Given the description of an element on the screen output the (x, y) to click on. 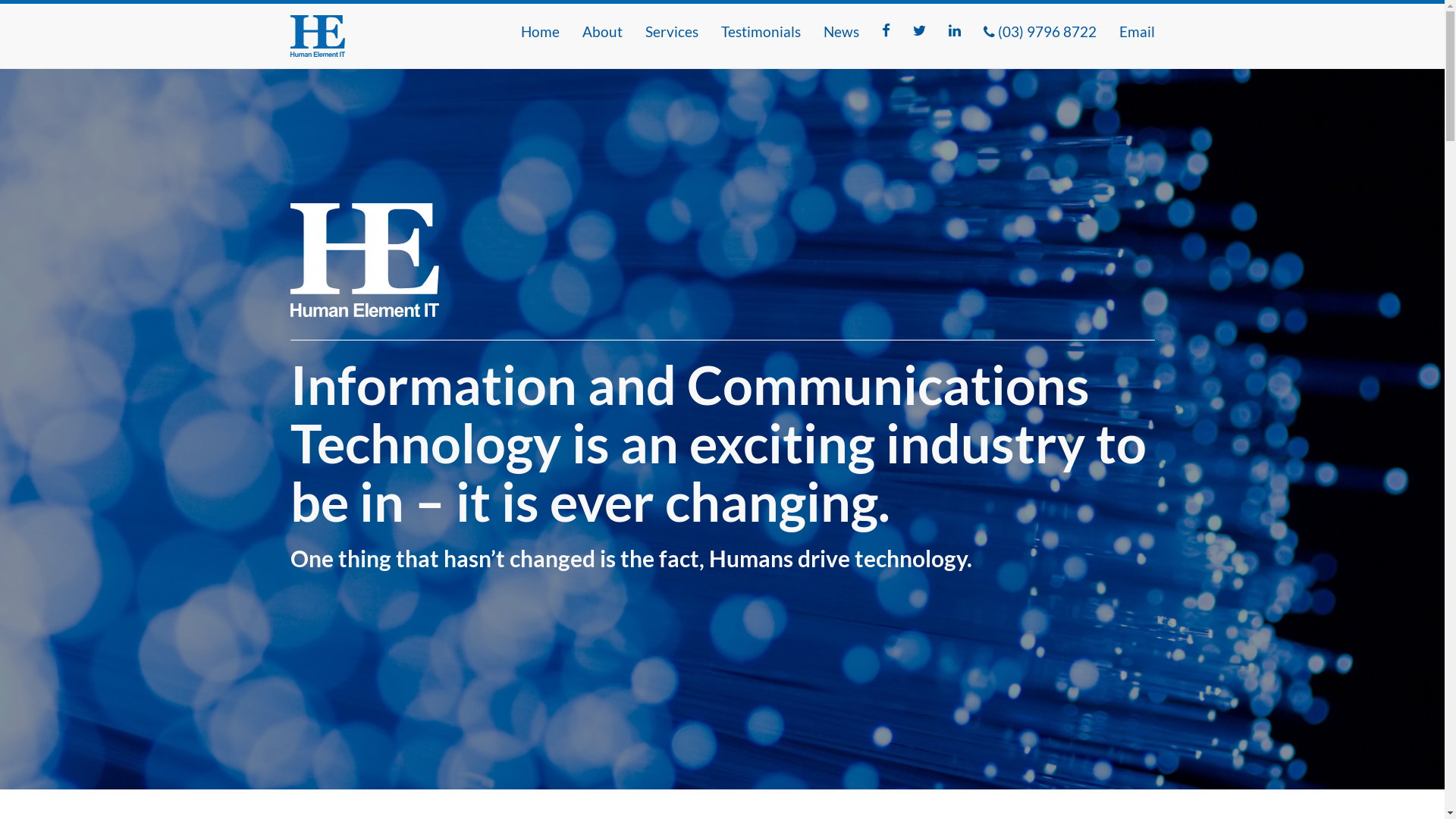
Services Element type: text (671, 31)
Email Element type: text (1136, 31)
News Element type: text (840, 31)
(03) 9796 8722 Element type: text (1039, 31)
Home Element type: text (540, 31)
About Element type: text (601, 31)
Testimonials Element type: text (760, 31)
